Given the description of an element on the screen output the (x, y) to click on. 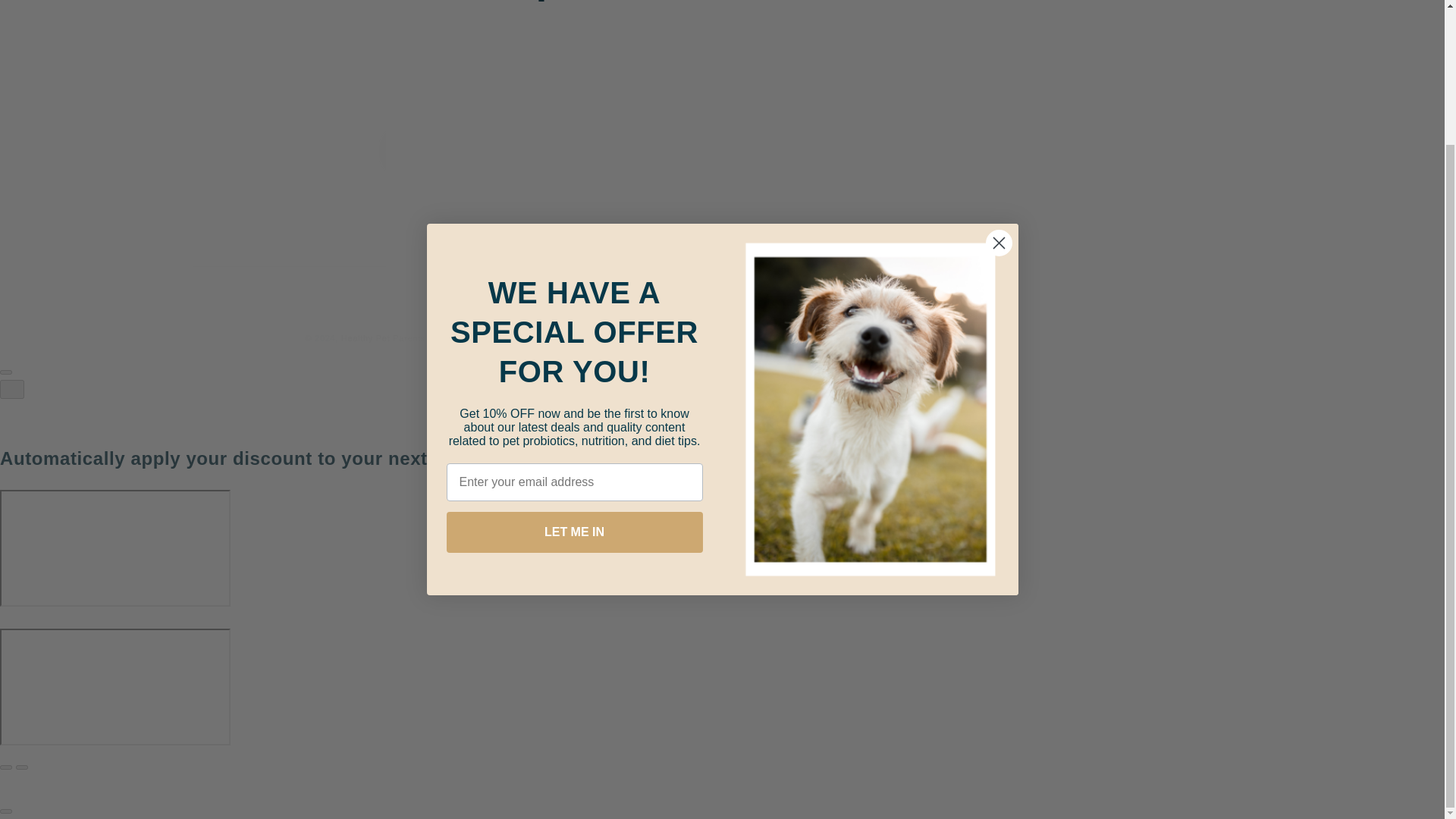
Powered by Shopify (470, 338)
About (530, 167)
Close dialog 1 (998, 78)
Contact (744, 167)
Close dialog 1 (998, 78)
Healthy Pet Parents (382, 338)
LET ME IN (573, 367)
Privacy Policy (761, 218)
